Given the description of an element on the screen output the (x, y) to click on. 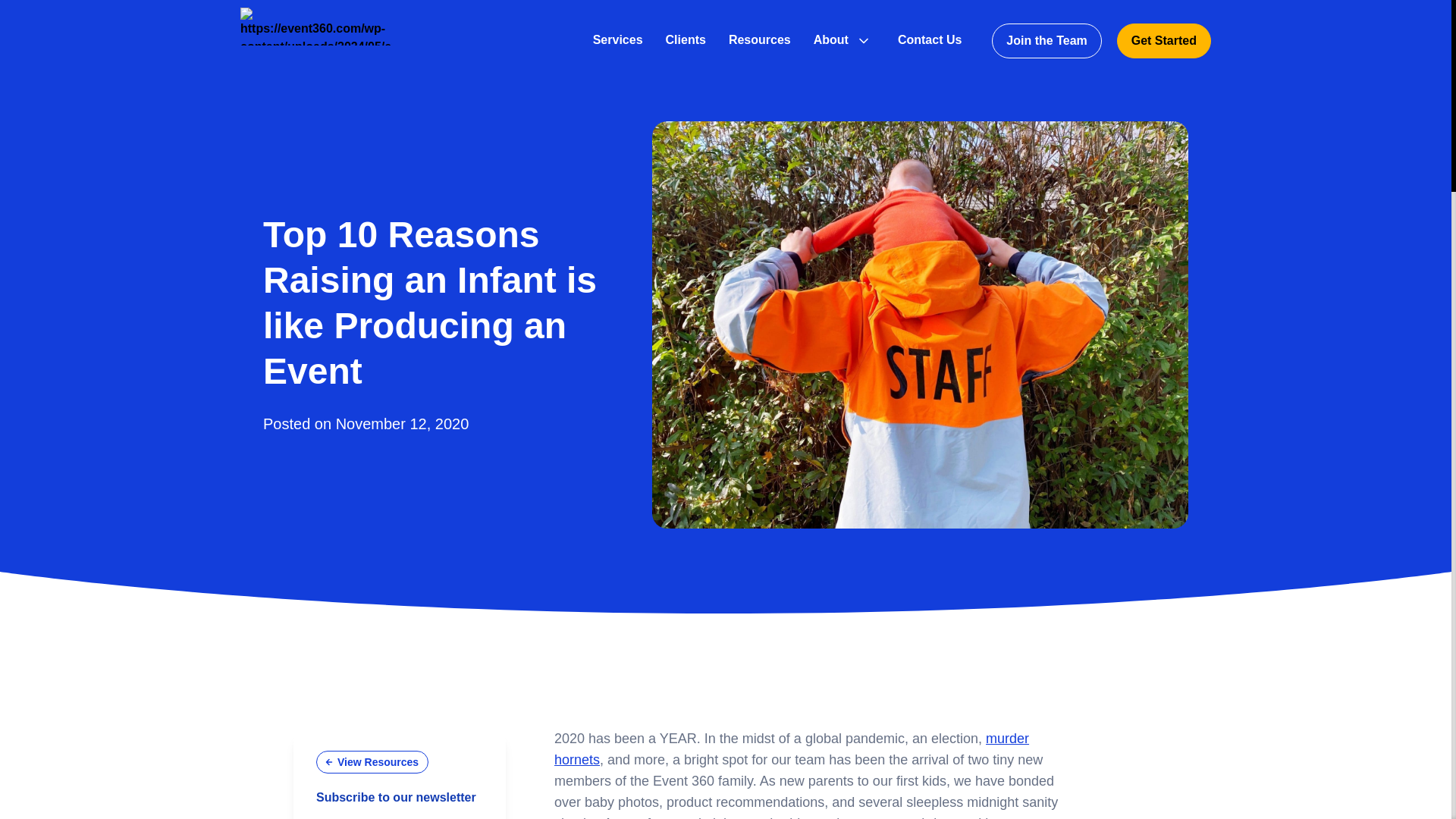
Get Started (1163, 40)
murder hornets (791, 749)
Contact Us (929, 39)
Services (617, 39)
View Resources (371, 762)
Clients (685, 39)
Resources (759, 39)
Join the Team (1045, 40)
About (830, 39)
